Given the description of an element on the screen output the (x, y) to click on. 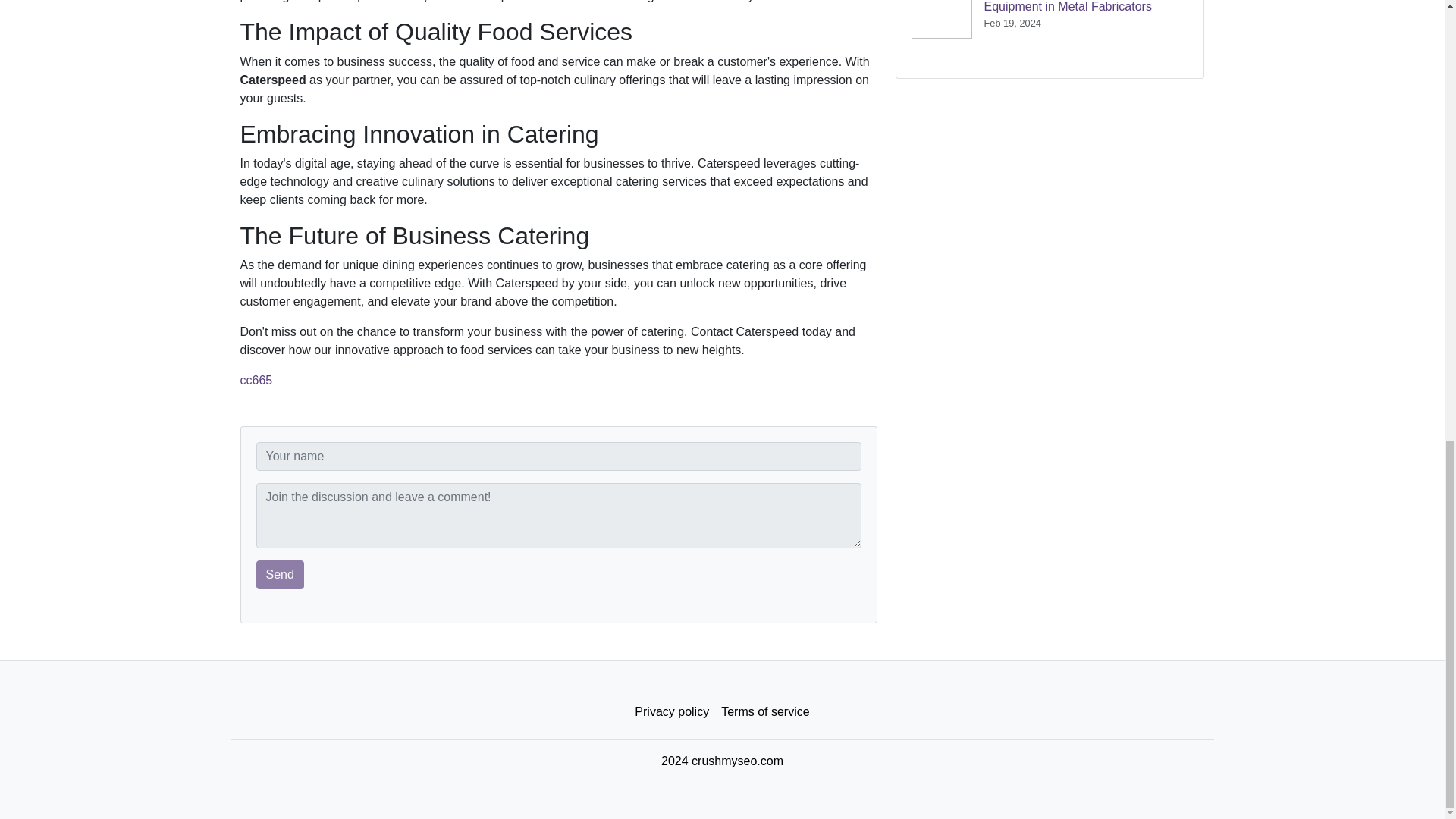
Send (280, 574)
Send (280, 574)
Terms of service (764, 711)
Privacy policy (671, 711)
cc665 (256, 379)
